Given the description of an element on the screen output the (x, y) to click on. 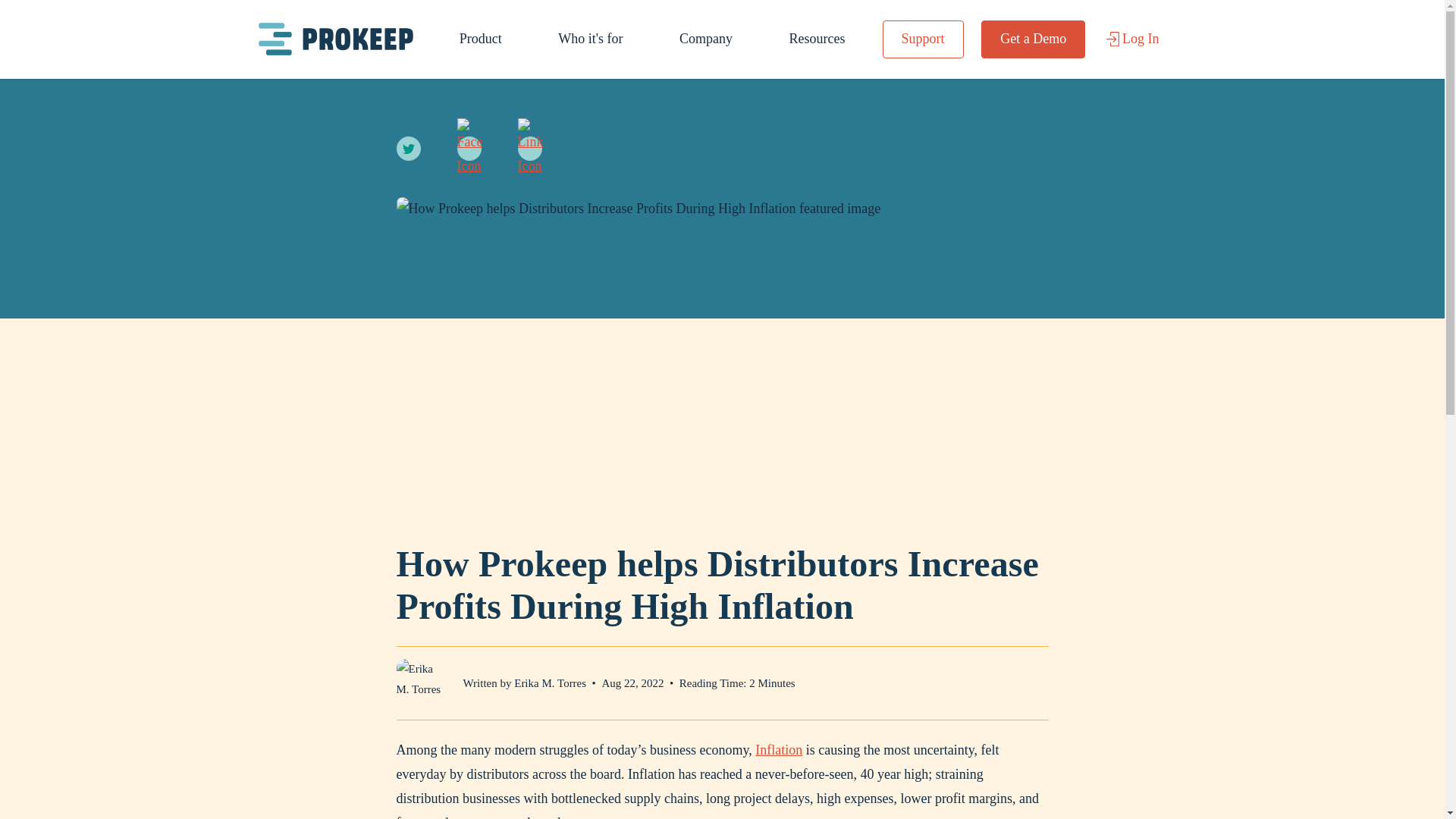
Prokeep (334, 38)
Support (922, 39)
Get a Demo (1032, 39)
linkedin (528, 148)
Inflation (778, 749)
Product (481, 39)
Company (705, 39)
facebook (468, 148)
Resources (816, 39)
twitter (408, 148)
